Given the description of an element on the screen output the (x, y) to click on. 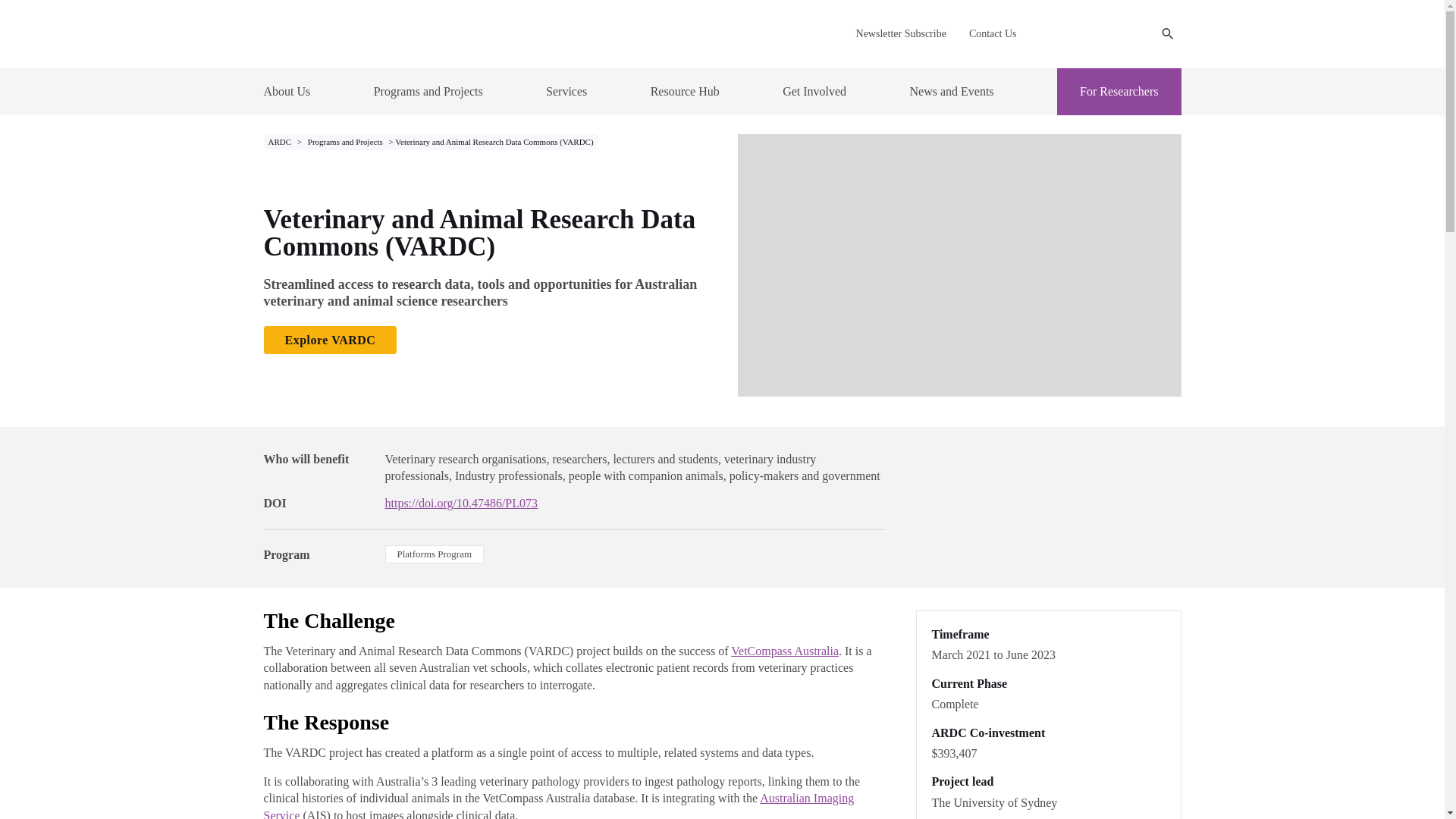
Go to ARDC. (281, 141)
Programs and Projects (428, 91)
Go to Programs and Projects. (345, 141)
Newsletter Subscribe (901, 33)
Contact Us (992, 33)
About Us (287, 91)
